Given the description of an element on the screen output the (x, y) to click on. 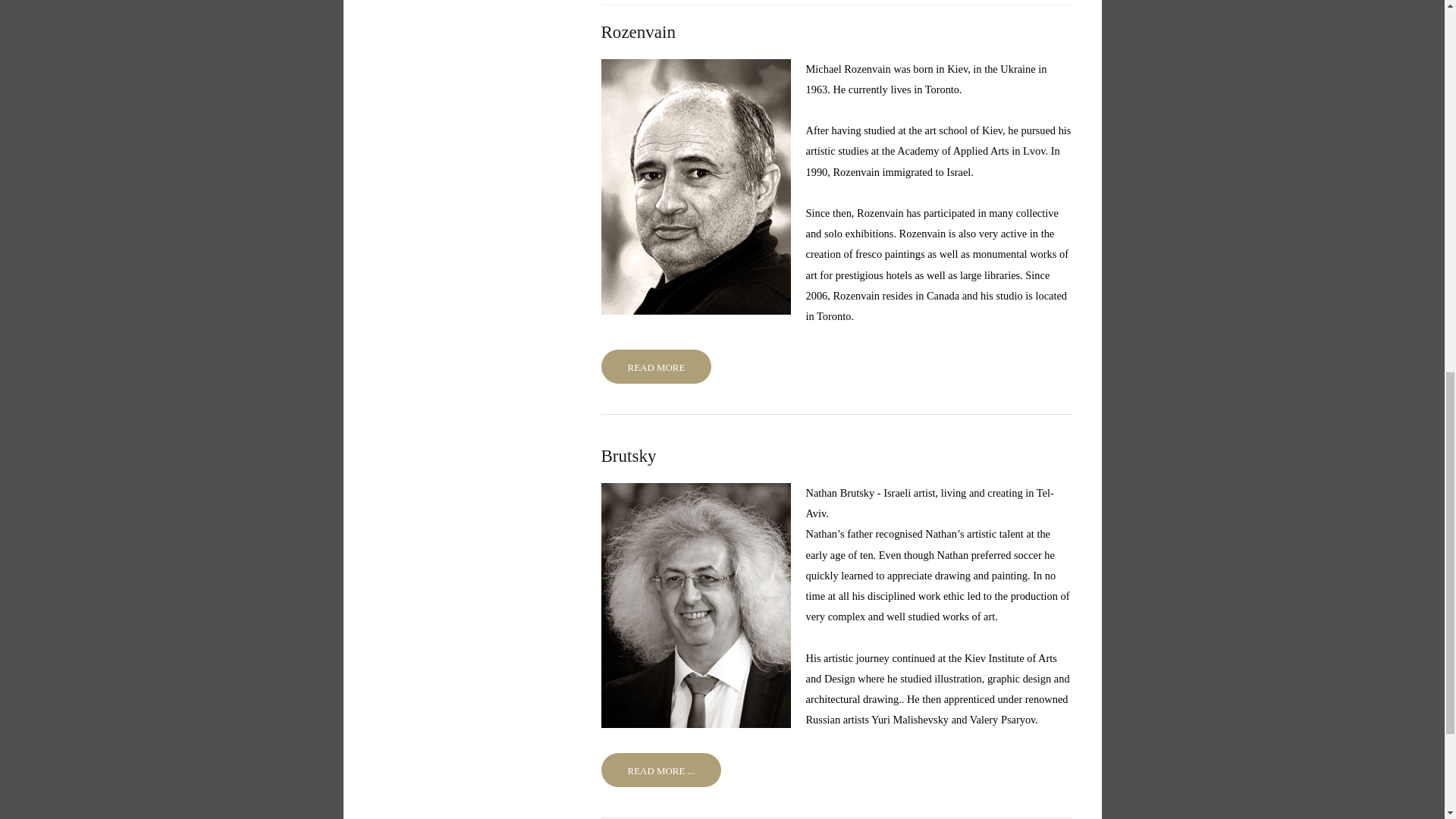
READ MORE ... (659, 769)
READ MORE (655, 366)
